Given the description of an element on the screen output the (x, y) to click on. 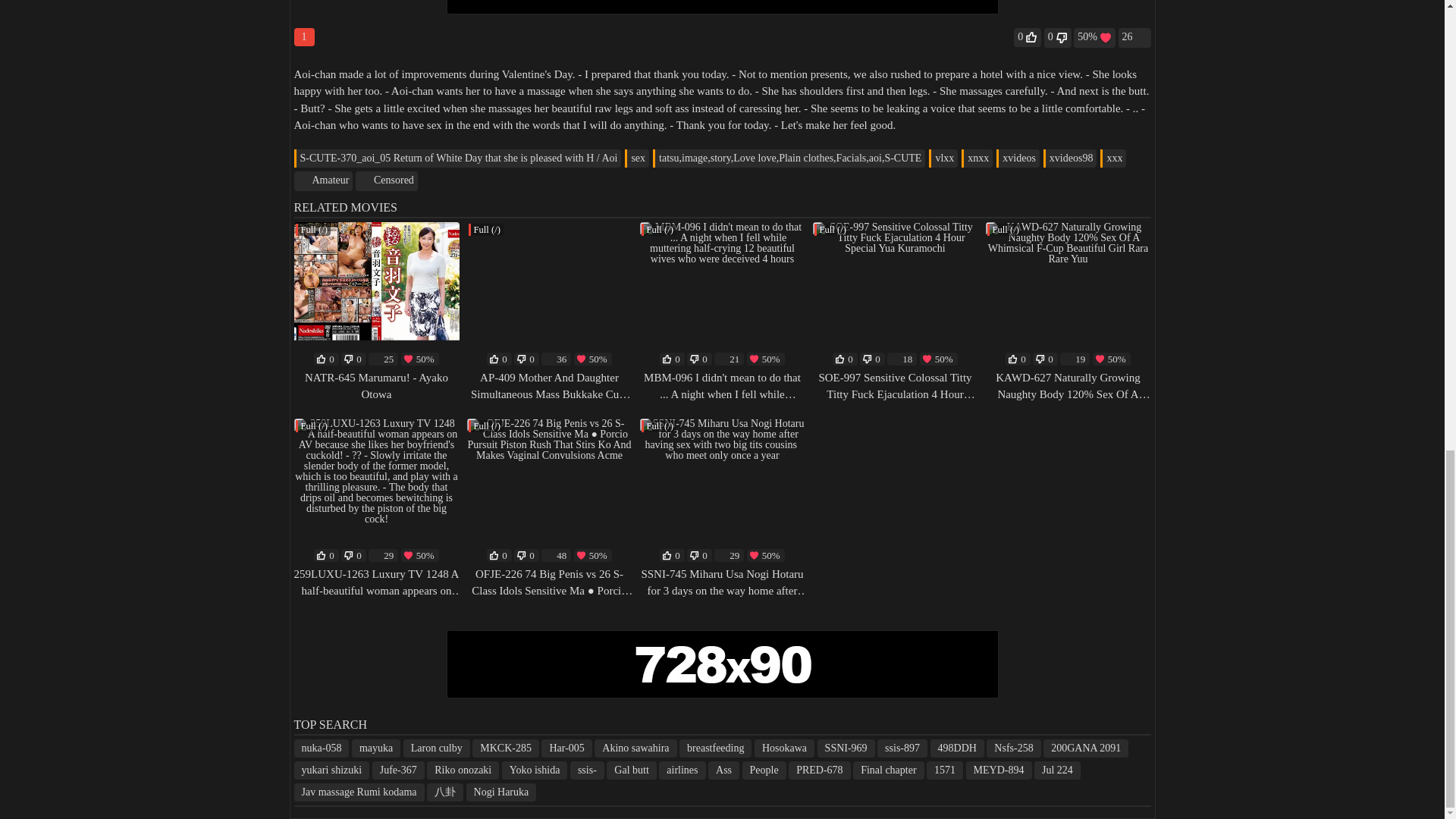
Amateur (323, 180)
Laron culby (436, 748)
xvideos98 (1070, 158)
NATR-645 Marumaru!  - Ayako Otowa (376, 386)
vlxx (943, 158)
sex (636, 158)
NATR-645 Marumaru! - Ayako Otowa (376, 386)
xnxx (976, 158)
xxx (1112, 158)
xvideos (1017, 158)
